Given the description of an element on the screen output the (x, y) to click on. 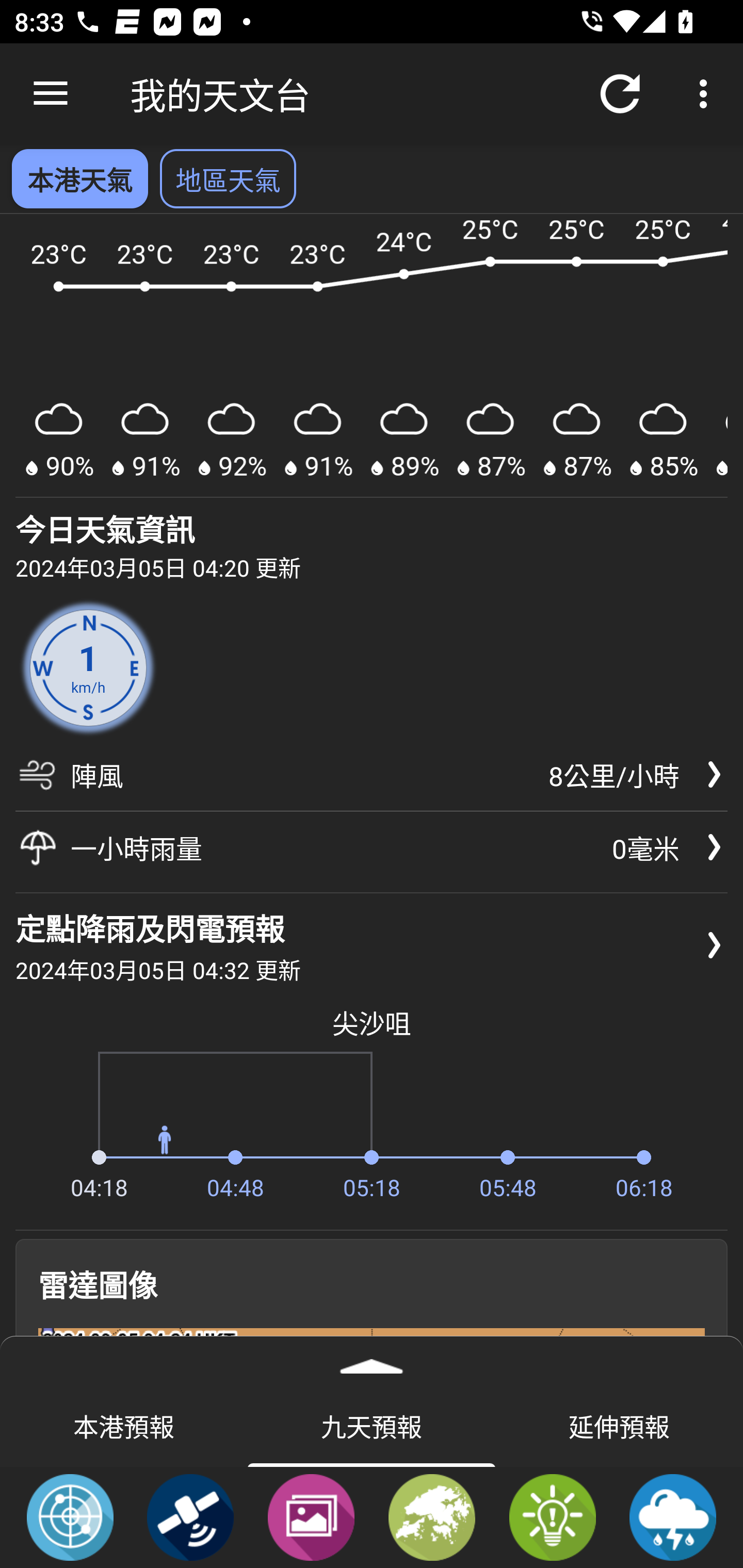
向上瀏覽 (50, 93)
重新整理 (619, 93)
更多選項 (706, 93)
本港天氣 已選擇 本港天氣 (79, 178)
地區天氣 選擇 地區天氣 (227, 178)
九天自動天氣預報 圖片
輕按進入內頁，即可了解詳細資料。 ARWF (371, 355)
風向不定
風速每小時1公里 1 km/h (88, 667)
陣風 8公里/小時 陣風 8公里/小時 (371, 781)
一小時雨量 0毫米 一小時雨量 0毫米 (371, 847)
展開 (371, 1358)
本港預報 (123, 1424)
延伸預報 (619, 1424)
雷達圖像 (69, 1516)
衛星圖像 (190, 1516)
天氣照片 (310, 1516)
分區天氣 (431, 1516)
天氣提示 (551, 1516)
定點降雨及閃電預報 (672, 1516)
